Given the description of an element on the screen output the (x, y) to click on. 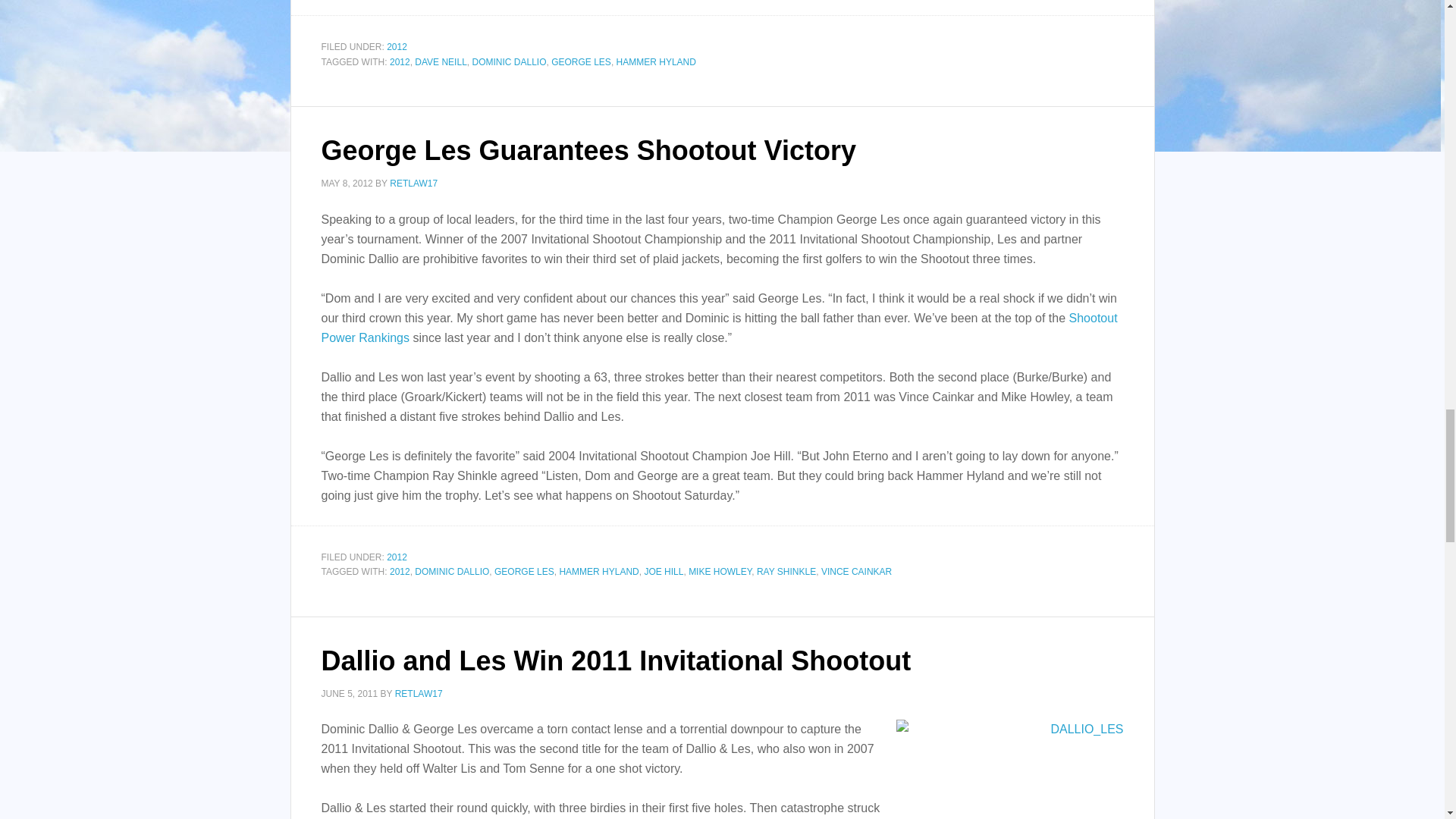
Power Rankings (719, 327)
